Given the description of an element on the screen output the (x, y) to click on. 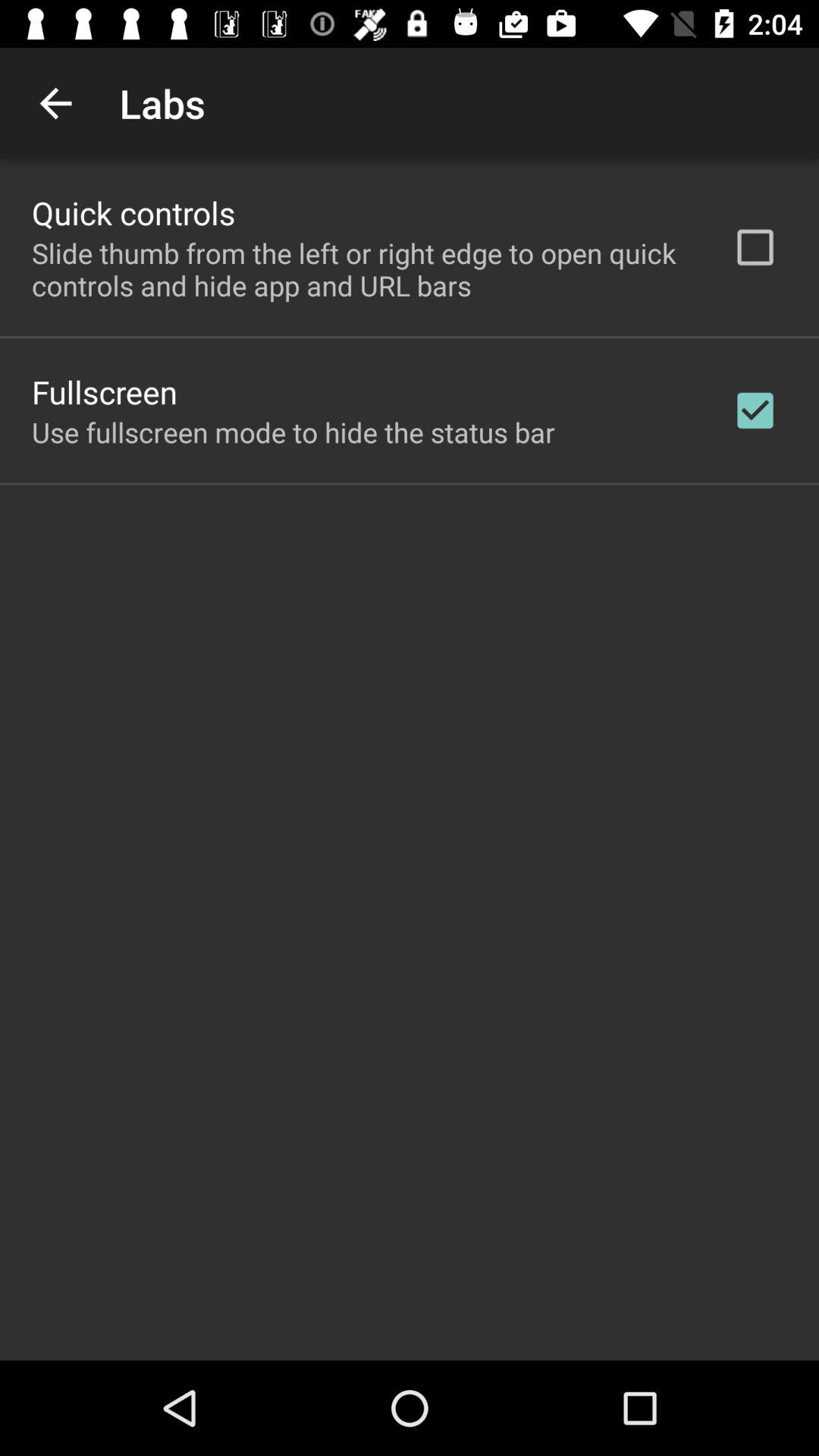
flip to slide thumb from item (361, 269)
